Given the description of an element on the screen output the (x, y) to click on. 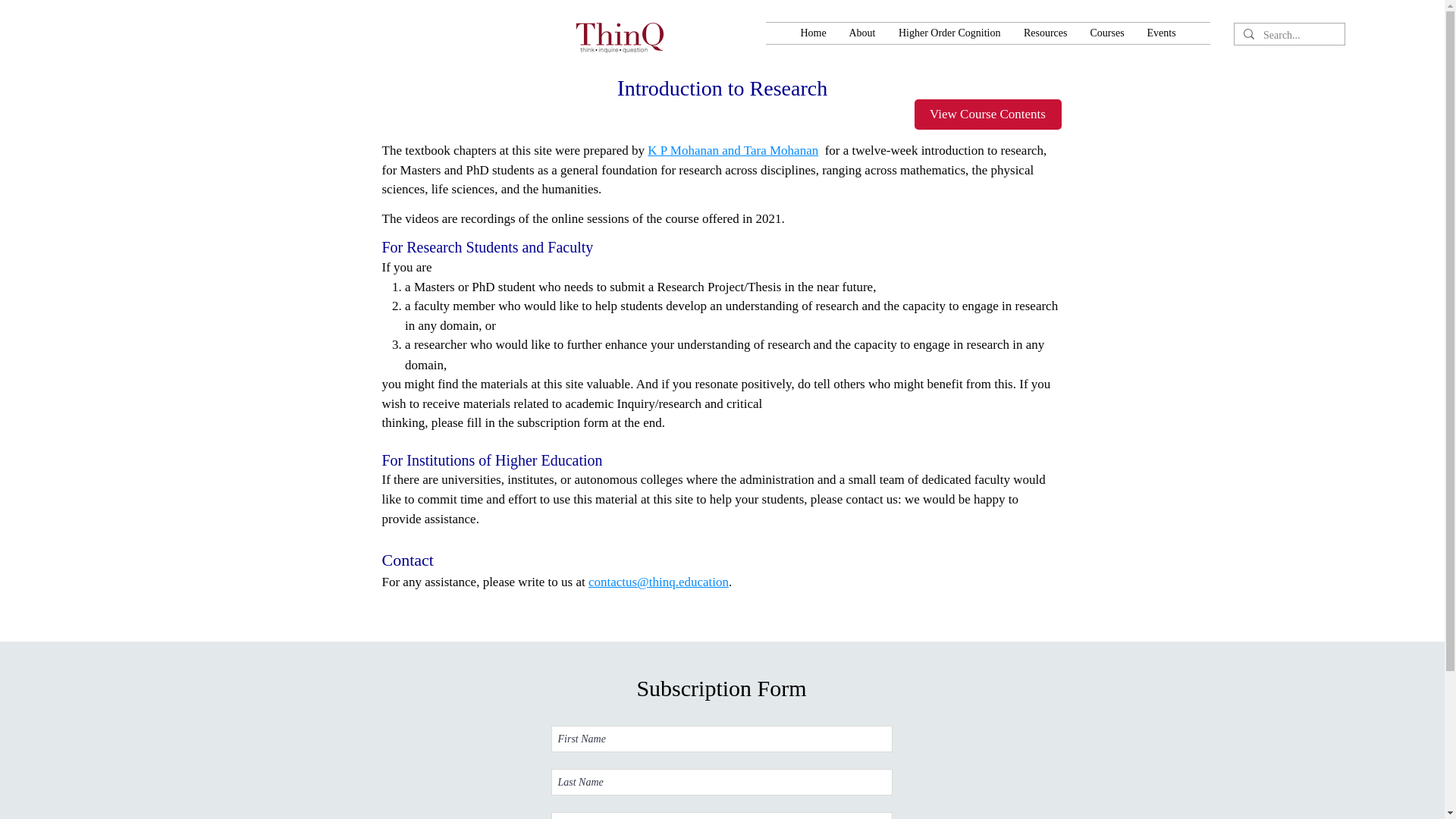
Home (813, 33)
K P Mohanan and Tara Mohanan (732, 150)
Events (1161, 33)
View Course Contents (987, 114)
Higher Order Cognition (948, 33)
